Given the description of an element on the screen output the (x, y) to click on. 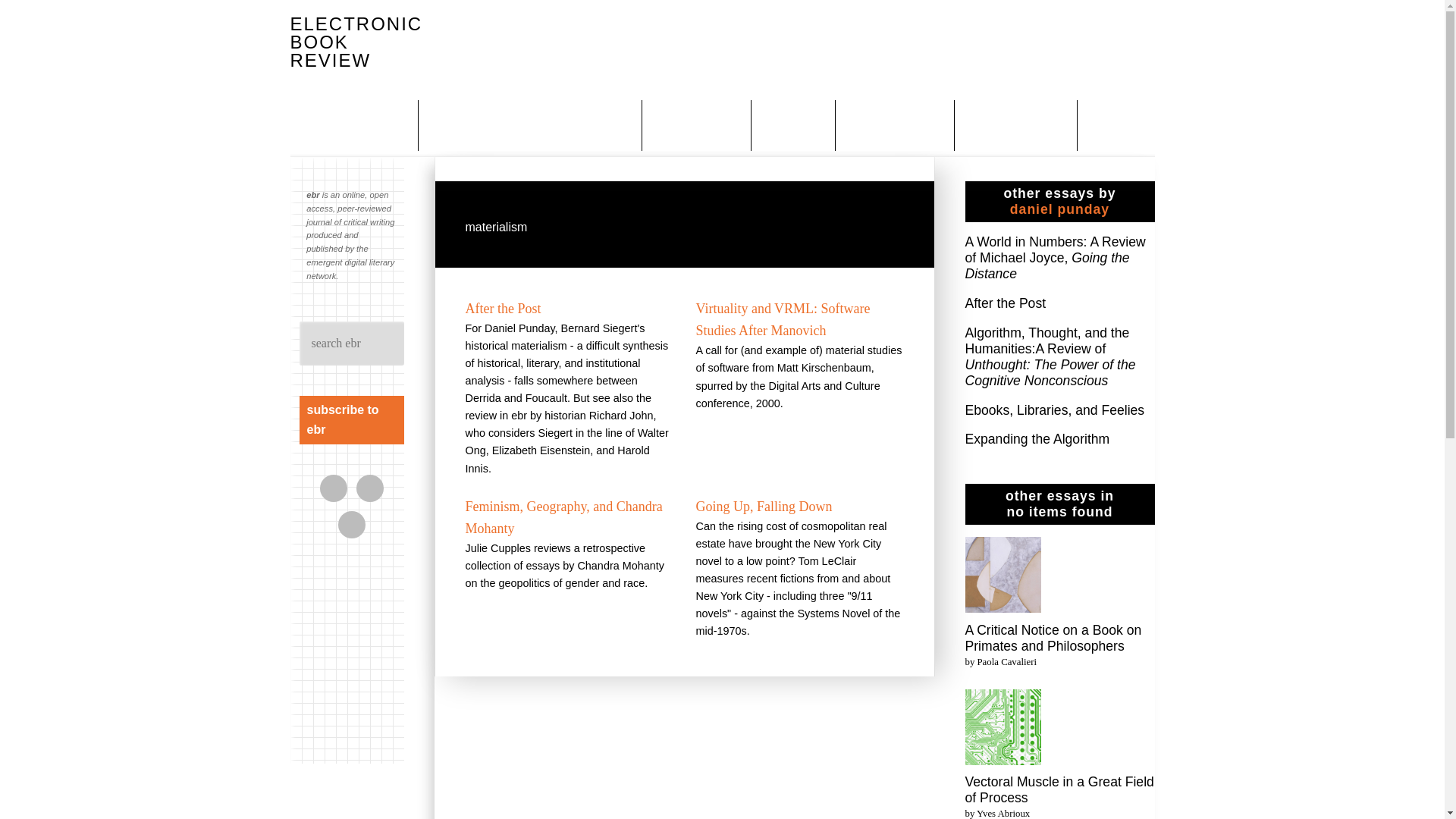
GATHERINGS (896, 124)
LOG IN (1117, 124)
ESSAYS (794, 124)
After the Post (1004, 303)
Vectoral Muscle in a Great Field of Process (1002, 728)
ABOUT EBR (365, 124)
Ebooks, Libraries, and Feelies (1053, 409)
After the Post (503, 308)
subscribe to ebr (350, 419)
A Critical Notice on a Book on Primates and Philosophers (1052, 637)
POLICIES AND SUBMISSIONS (532, 124)
NEWSLETTER (1017, 124)
Expanding the Algorithm (1036, 438)
